Given the description of an element on the screen output the (x, y) to click on. 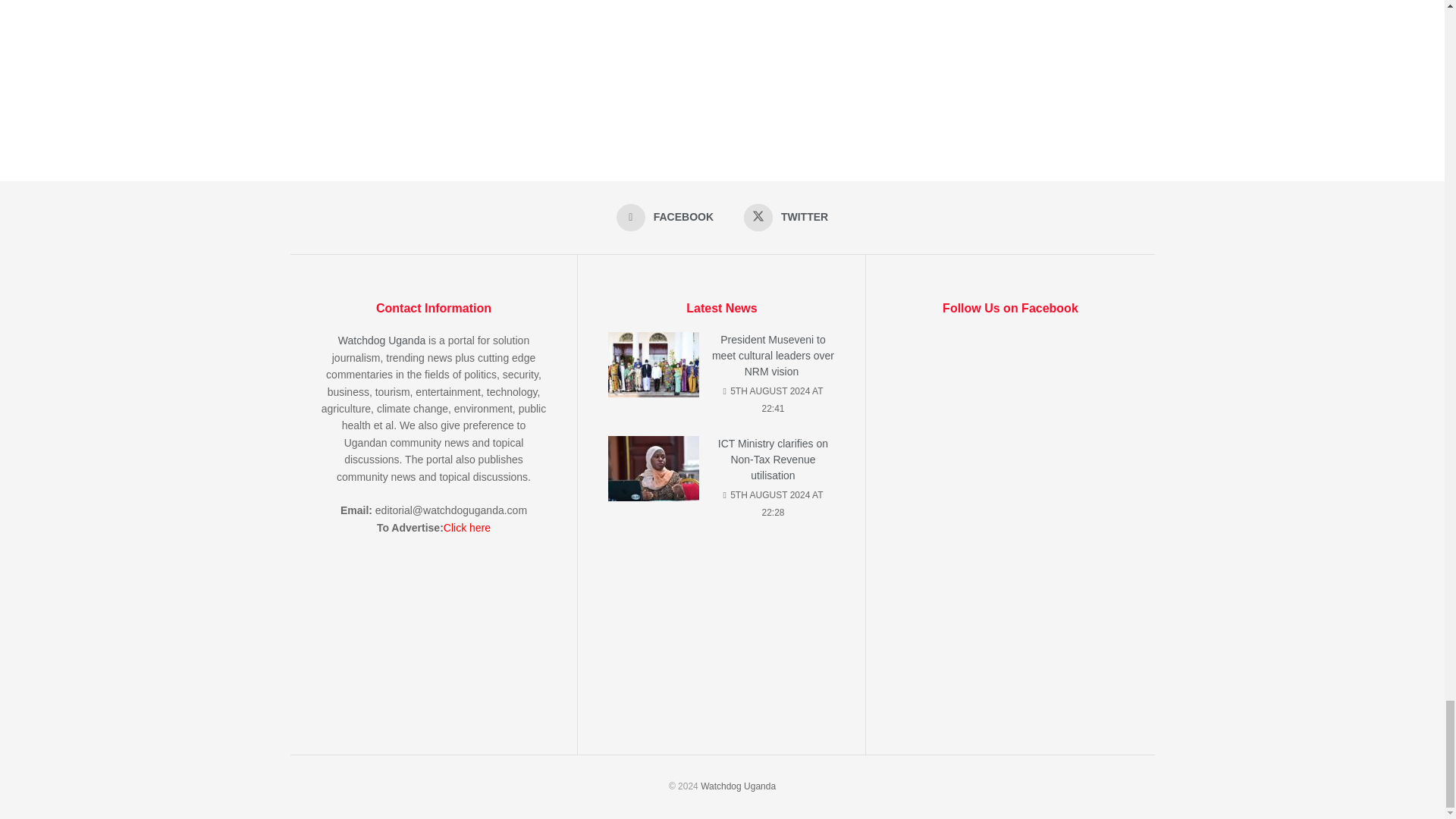
Latest News in Uganda (738, 786)
